Given the description of an element on the screen output the (x, y) to click on. 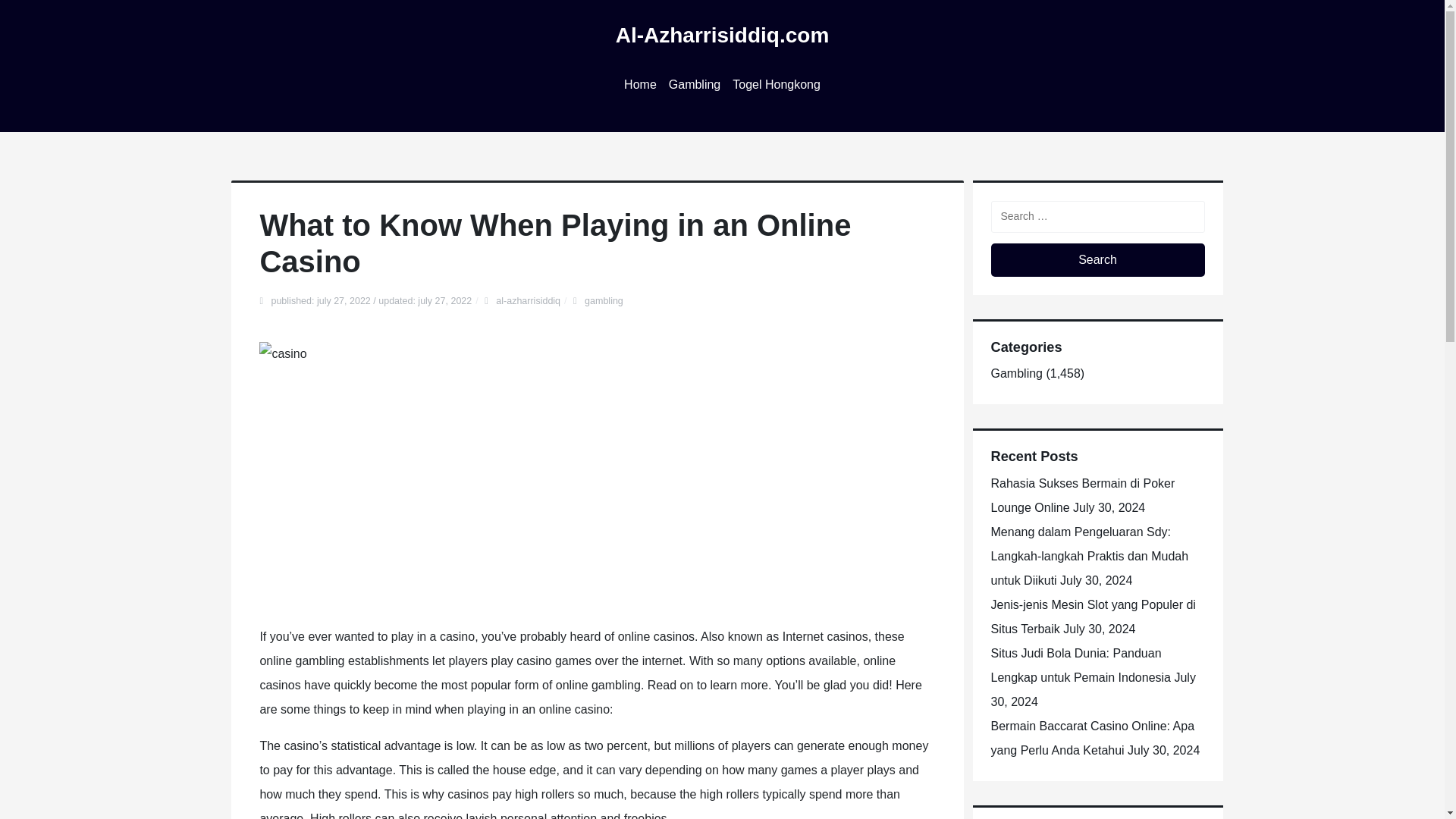
Search (1097, 259)
Home (639, 84)
Home (639, 84)
Jenis-jenis Mesin Slot yang Populer di Situs Terbaik (1092, 616)
Togel Hongkong (776, 84)
Search (1097, 259)
Search (1097, 259)
al-azharrisiddiq (528, 300)
Gambling (1016, 373)
gambling (604, 300)
Rahasia Sukses Bermain di Poker Lounge Online (1082, 495)
Al-Azharrisiddiq.com (722, 34)
Bermain Baccarat Casino Online: Apa yang Perlu Anda Ketahui (1091, 737)
